Given the description of an element on the screen output the (x, y) to click on. 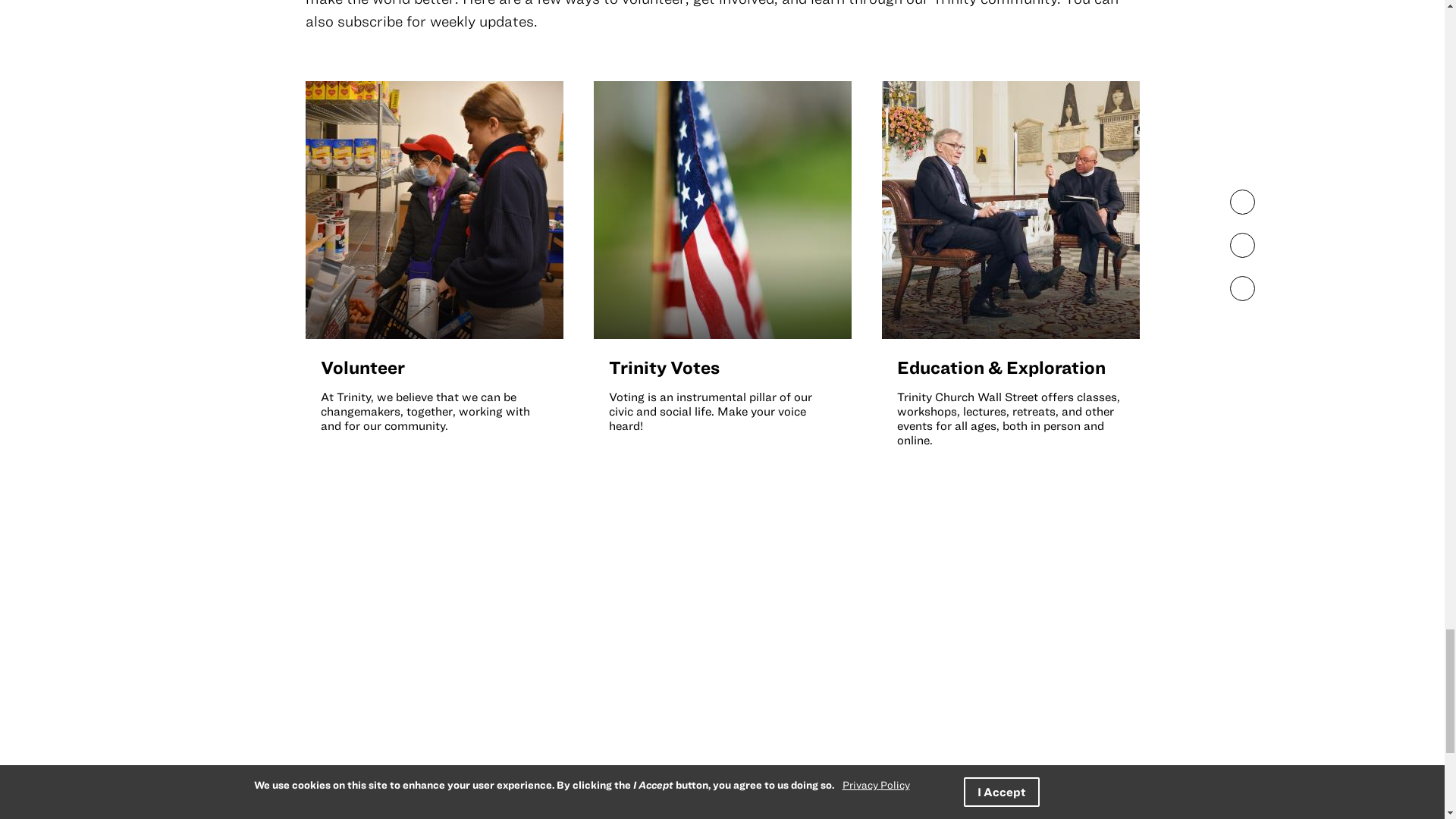
Subscribe (808, 696)
